Given the description of an element on the screen output the (x, y) to click on. 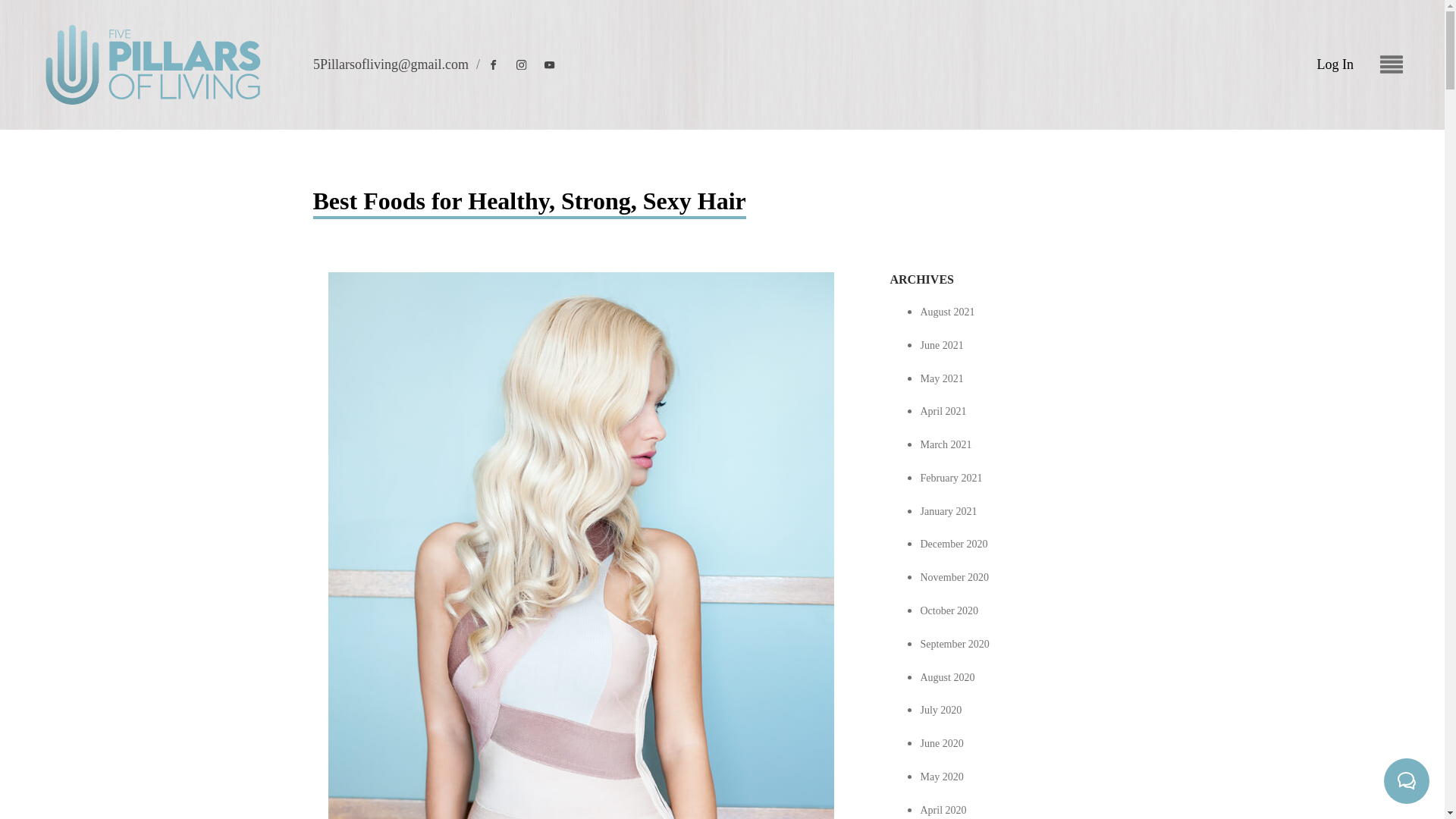
Log In (1335, 65)
March 2021 (946, 444)
January 2021 (948, 511)
May 2021 (941, 378)
August 2020 (947, 677)
September 2020 (955, 644)
April 2021 (943, 410)
April 2020 (943, 809)
May 2020 (941, 776)
June 2020 (941, 743)
November 2020 (955, 577)
August 2021 (947, 311)
June 2021 (941, 345)
October 2020 (949, 610)
July 2020 (941, 709)
